Given the description of an element on the screen output the (x, y) to click on. 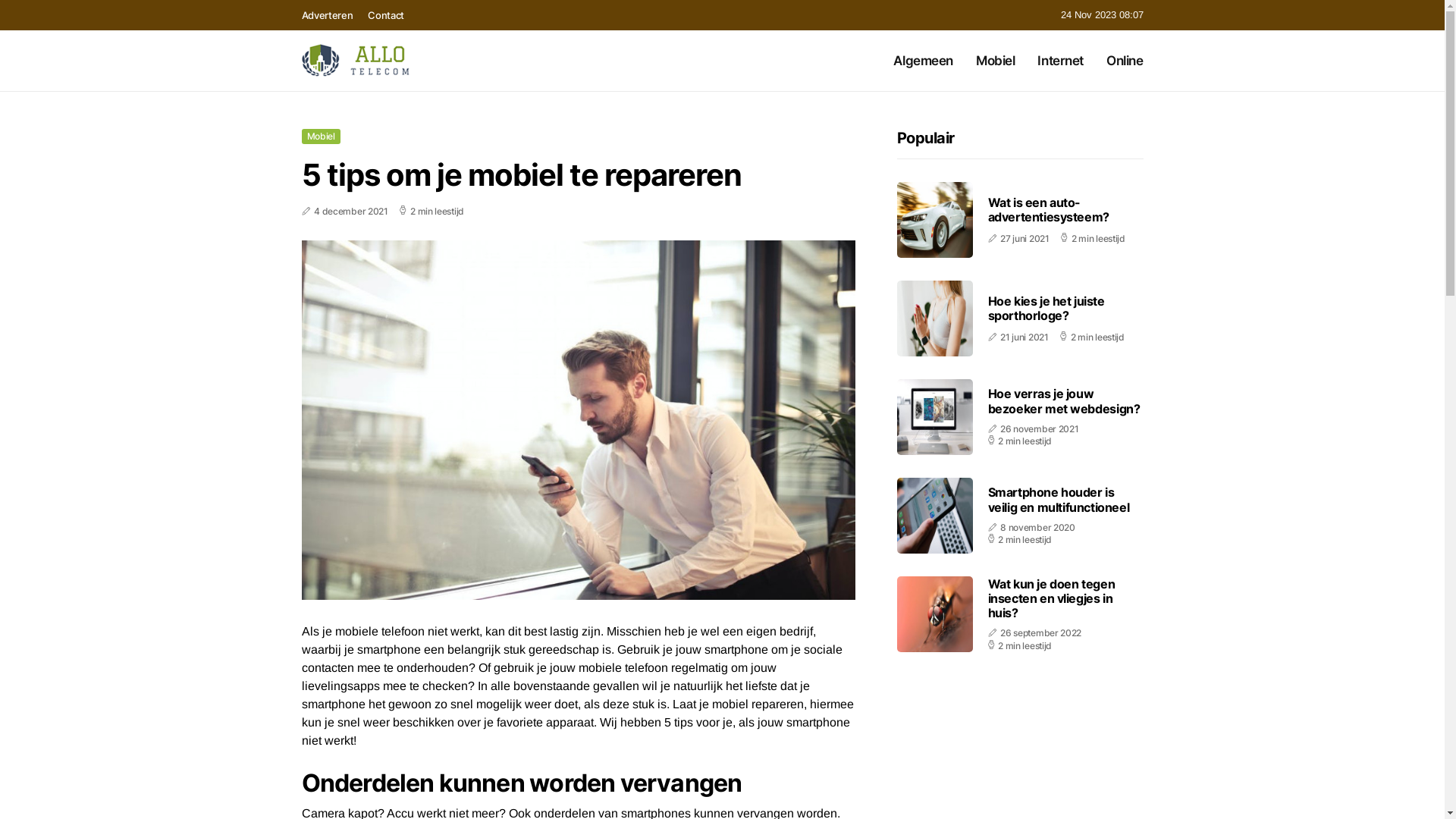
Wat is een auto-advertentiesysteem? Element type: text (1047, 209)
Wat kun je doen tegen insecten en vliegjes in huis? Element type: text (1050, 598)
Online Element type: text (1124, 60)
Adverteren Element type: text (327, 15)
Hoe verras je jouw bezoeker met webdesign? Element type: text (1063, 400)
Contact Element type: text (385, 15)
Algemeen Element type: text (923, 60)
Hoe kies je het juiste sporthorloge? Element type: text (1045, 308)
Internet Element type: text (1060, 60)
Smartphone houder is veilig en multifunctioneel Element type: text (1058, 499)
Mobiel Element type: text (994, 60)
Mobiel Element type: text (320, 136)
